Given the description of an element on the screen output the (x, y) to click on. 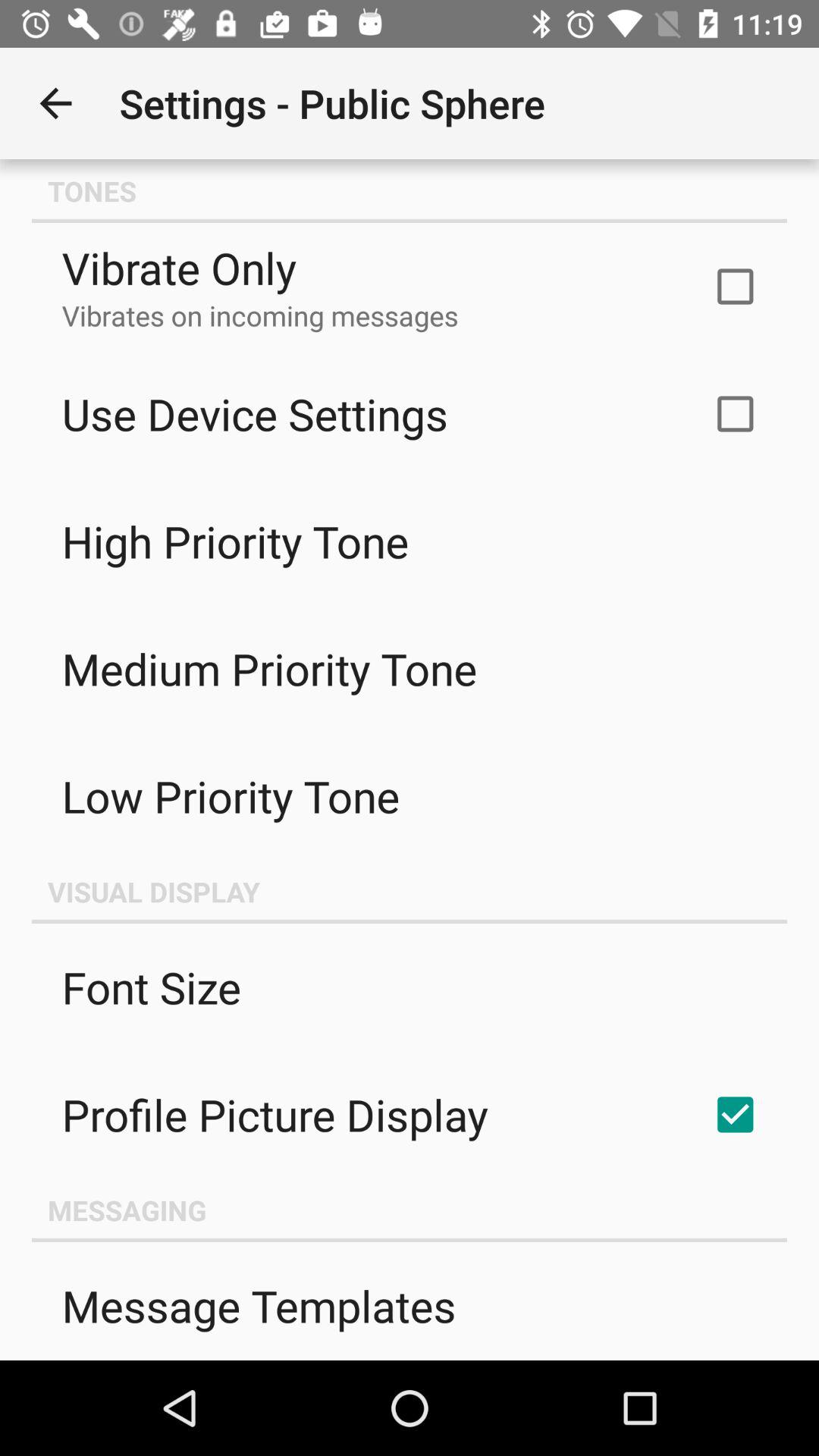
jump to the messaging item (409, 1210)
